Given the description of an element on the screen output the (x, y) to click on. 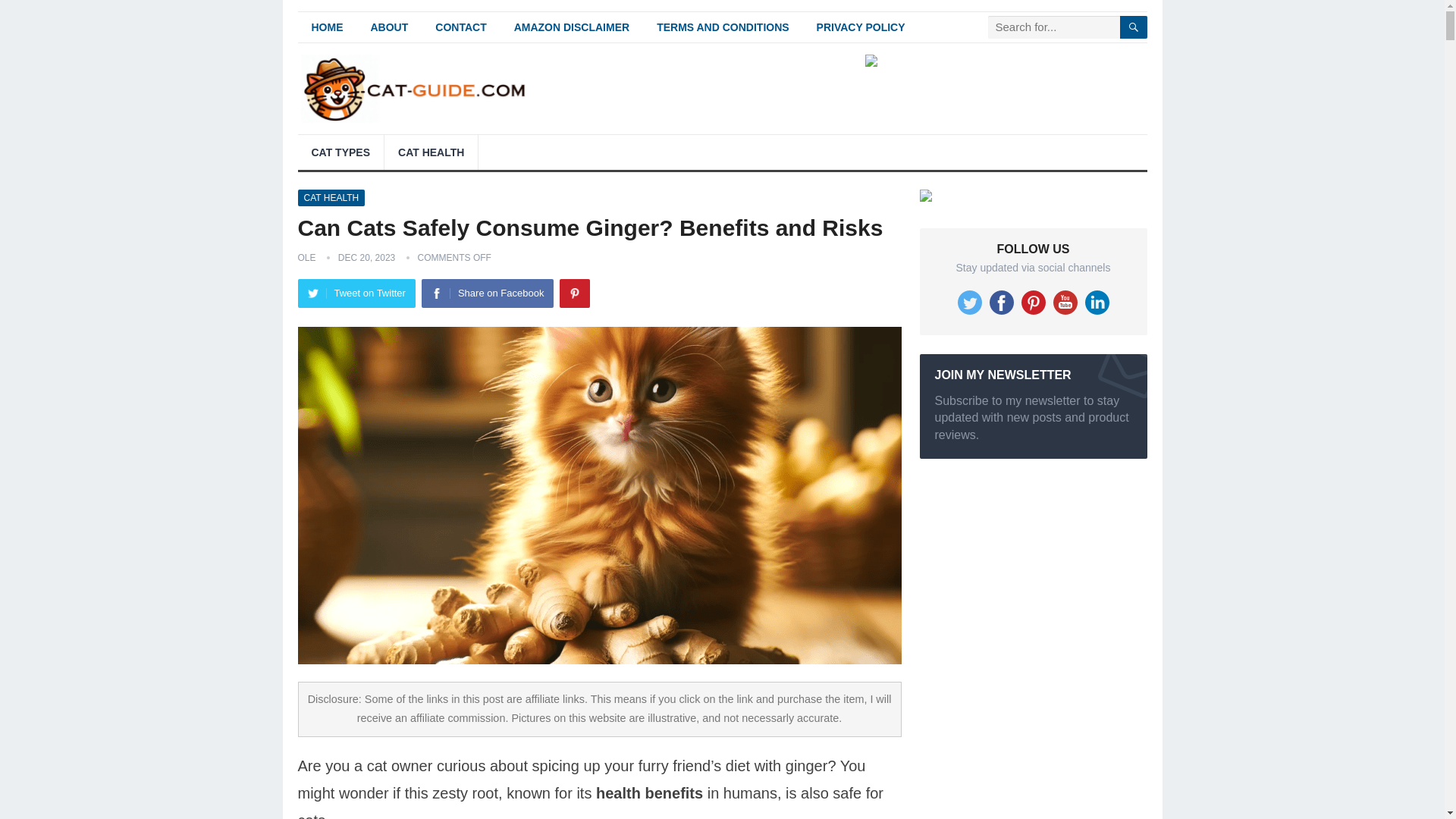
TERMS AND CONDITIONS (722, 27)
HOME (326, 27)
CAT TYPES (340, 152)
Share on Facebook (487, 293)
Tweet on Twitter (355, 293)
Posts by Ole (306, 256)
CAT HEALTH (430, 152)
View all posts in Cat Health (331, 197)
PRIVACY POLICY (860, 27)
Pinterest (574, 293)
